Given the description of an element on the screen output the (x, y) to click on. 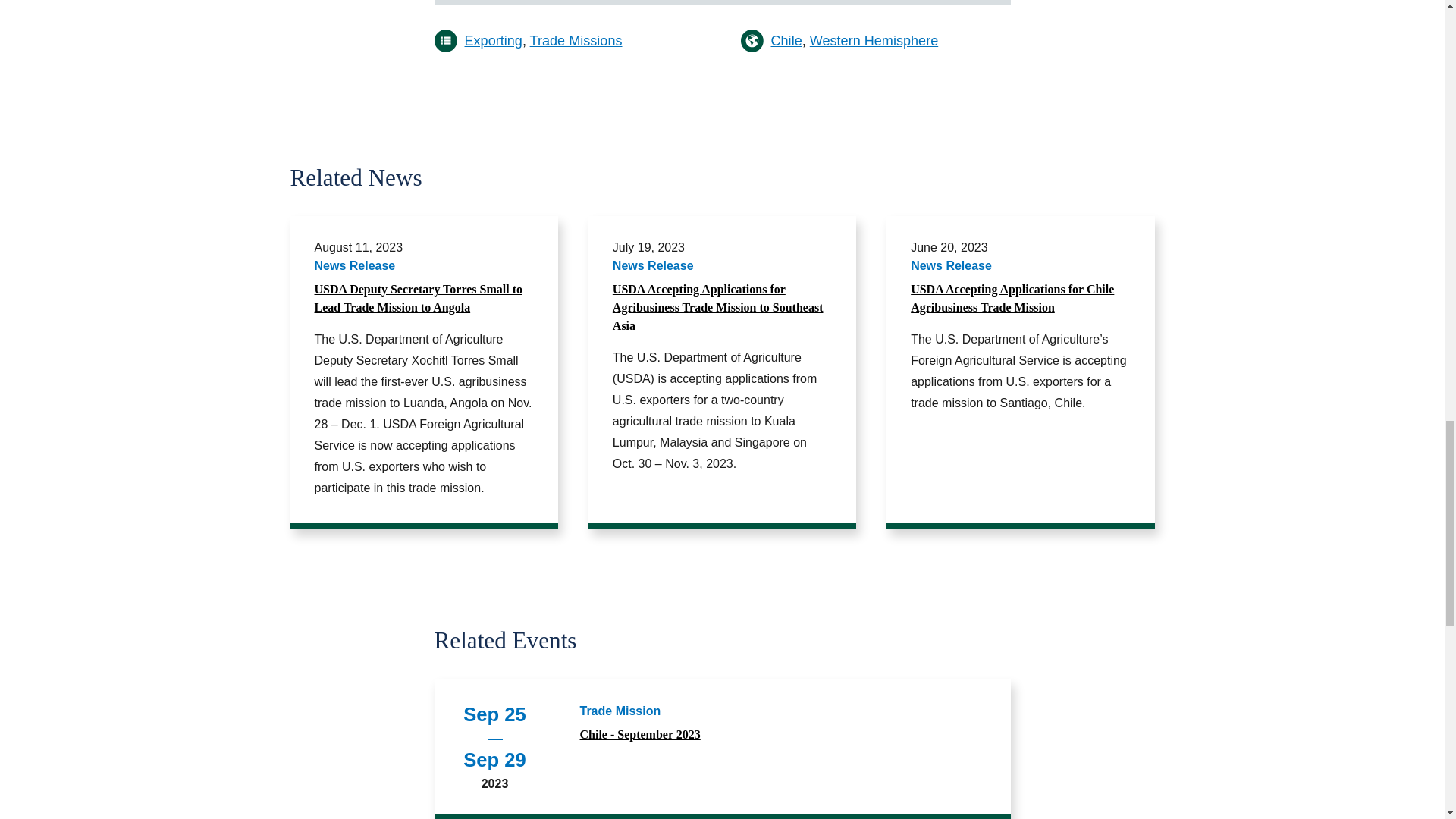
Trade Missions (576, 40)
August 11, 2023 - 9:45 am (358, 246)
Chile (786, 40)
June 20, 2023 - 10:58 am (949, 246)
Exporting (492, 40)
Western Hemisphere (873, 40)
July 19, 2023 - 9:36 am (648, 246)
Chile - September 2023 (782, 734)
